Given the description of an element on the screen output the (x, y) to click on. 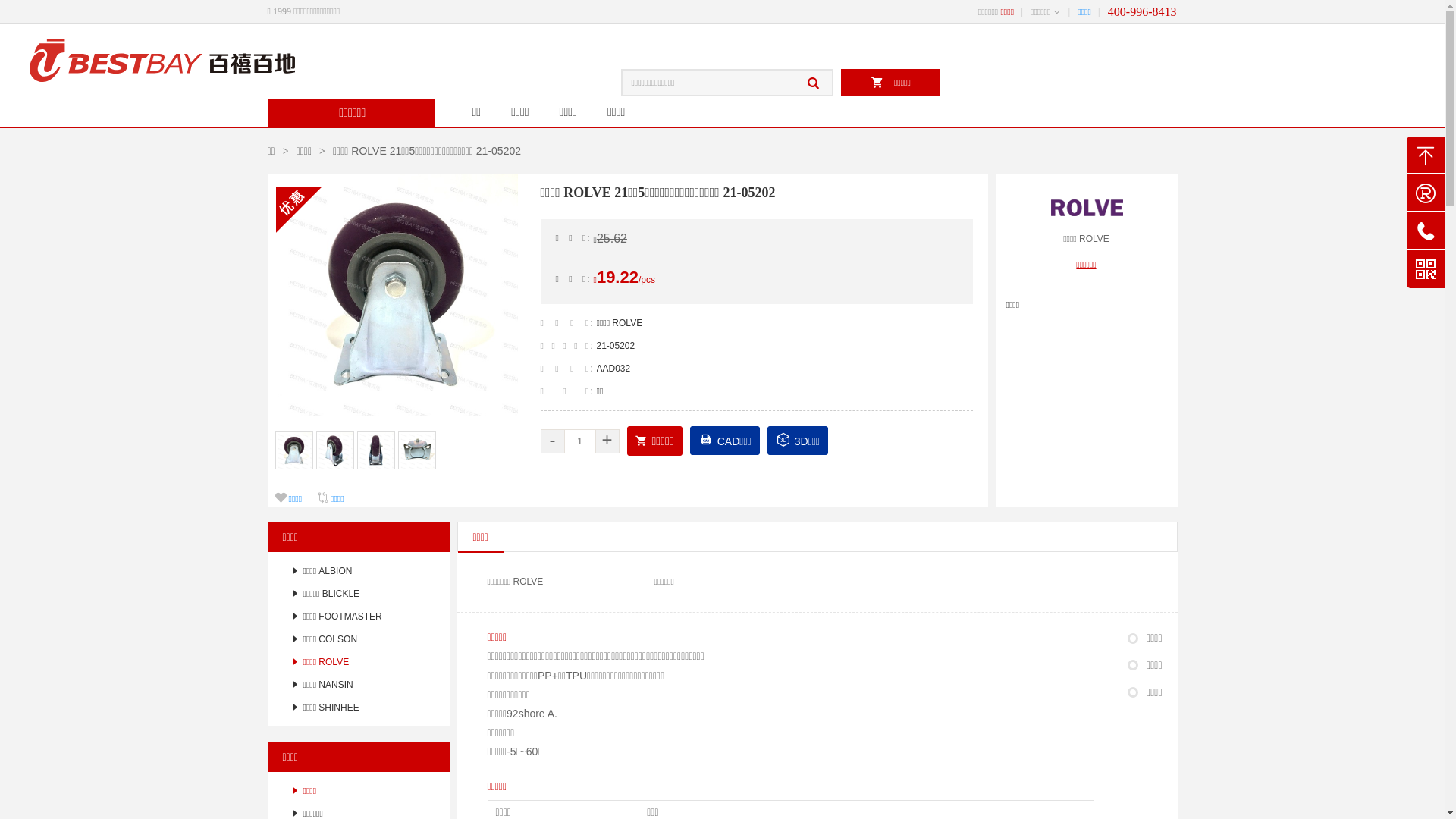
- Element type: text (551, 441)
+ Element type: text (606, 441)
400-996-8413 Element type: text (1141, 11)
